Given the description of an element on the screen output the (x, y) to click on. 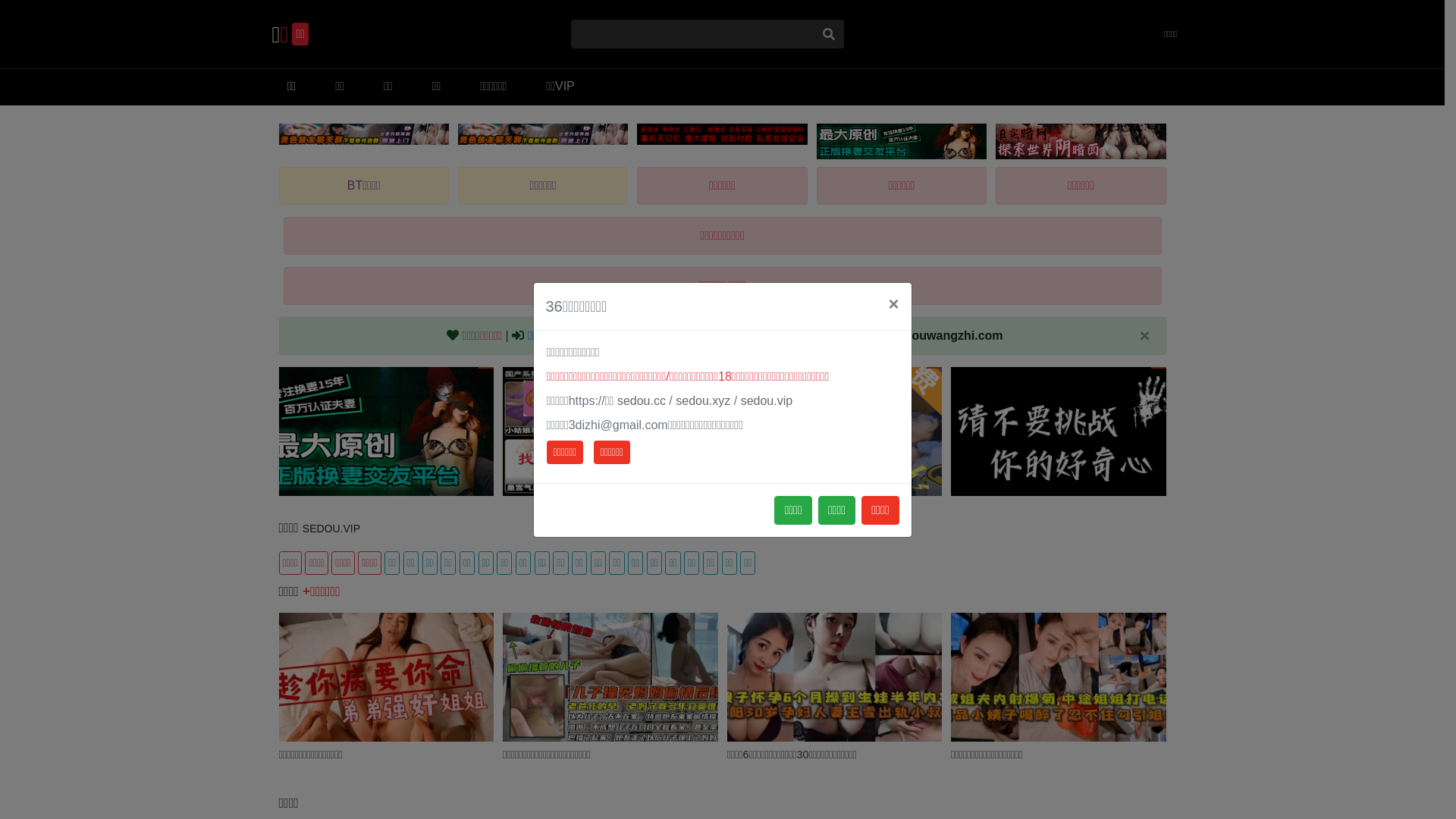
sedouwangzhi.com Element type: text (947, 335)
sedou.xyz Element type: text (702, 400)
sedou.vip Element type: text (766, 400)
SEDOU.VIP Element type: text (331, 528)
sedou.cc Element type: text (641, 400)
